Given the description of an element on the screen output the (x, y) to click on. 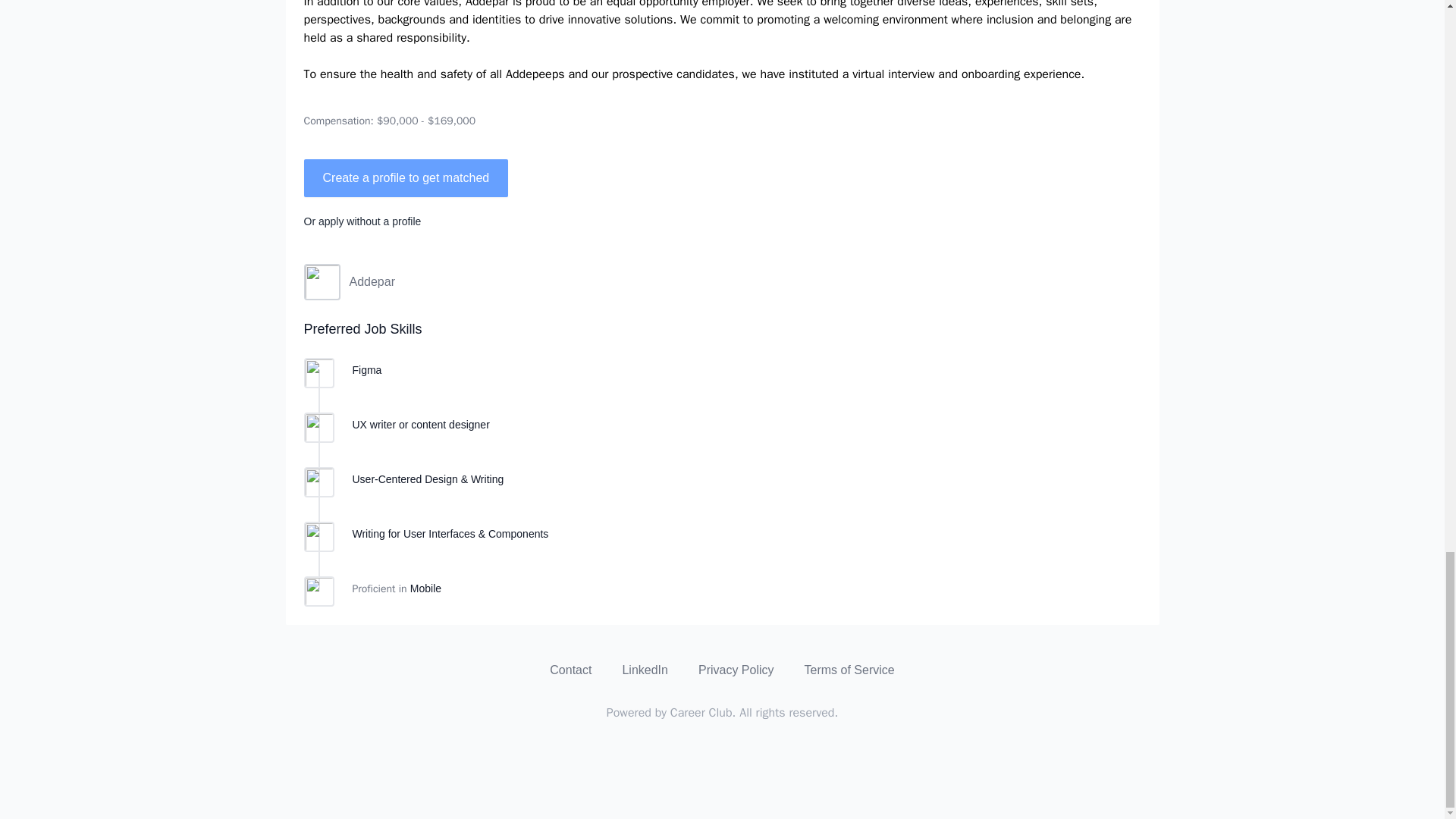
Terms of Service (850, 669)
Create a profile to get matched (405, 177)
LinkedIn (644, 669)
Or apply without a profile (361, 221)
Addepar (721, 282)
Figma (366, 369)
Mobile (425, 588)
UX writer or content designer (420, 424)
Contact (570, 669)
Privacy Policy (736, 669)
